Given the description of an element on the screen output the (x, y) to click on. 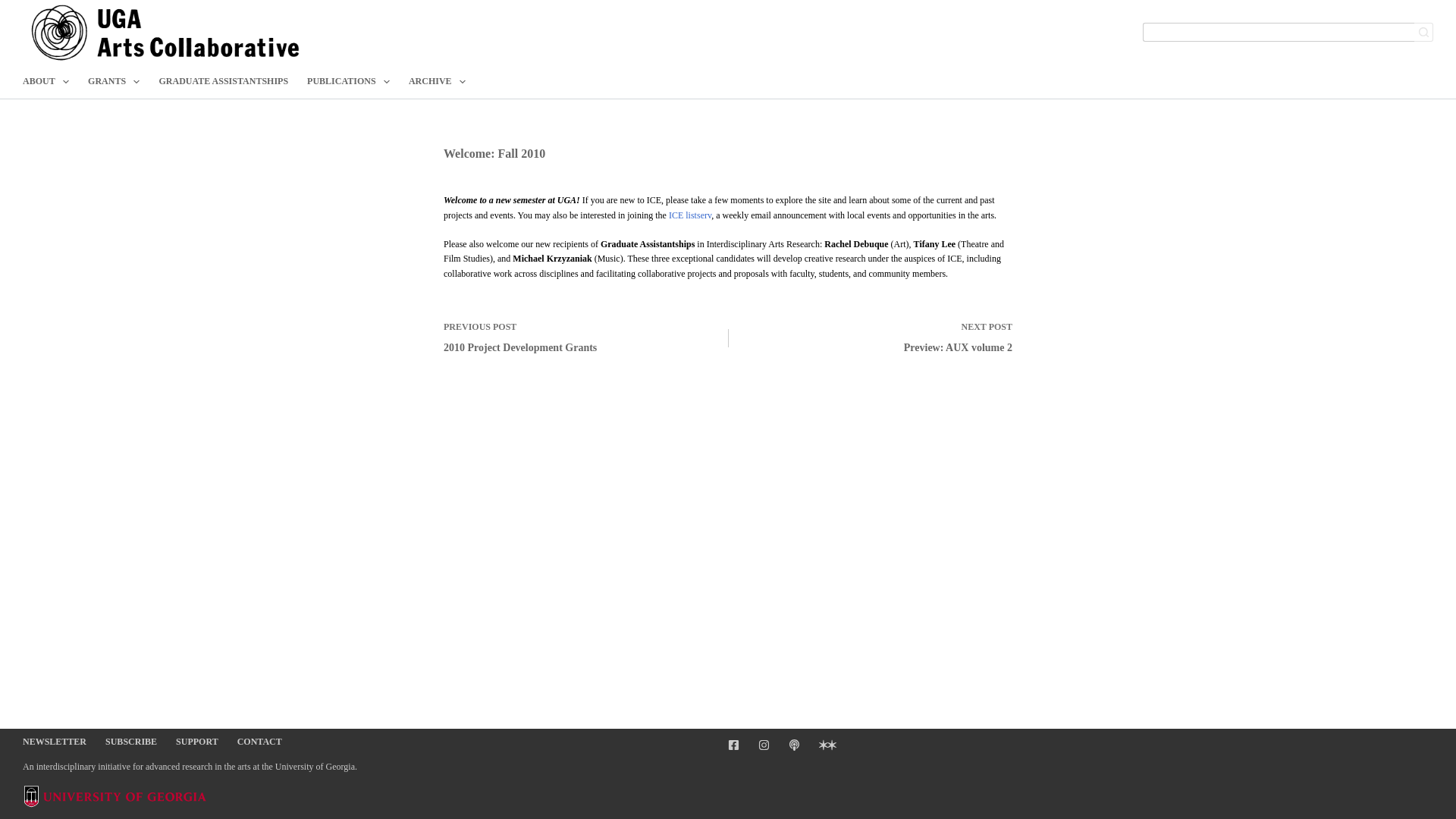
Skip to content (15, 7)
Welcome: Fall 2010 (727, 153)
GRANTS (113, 81)
ABOUT (50, 81)
Search for... (1277, 31)
PUBLICATIONS (348, 81)
GRADUATE ASSISTANTSHIPS (223, 81)
